Given the description of an element on the screen output the (x, y) to click on. 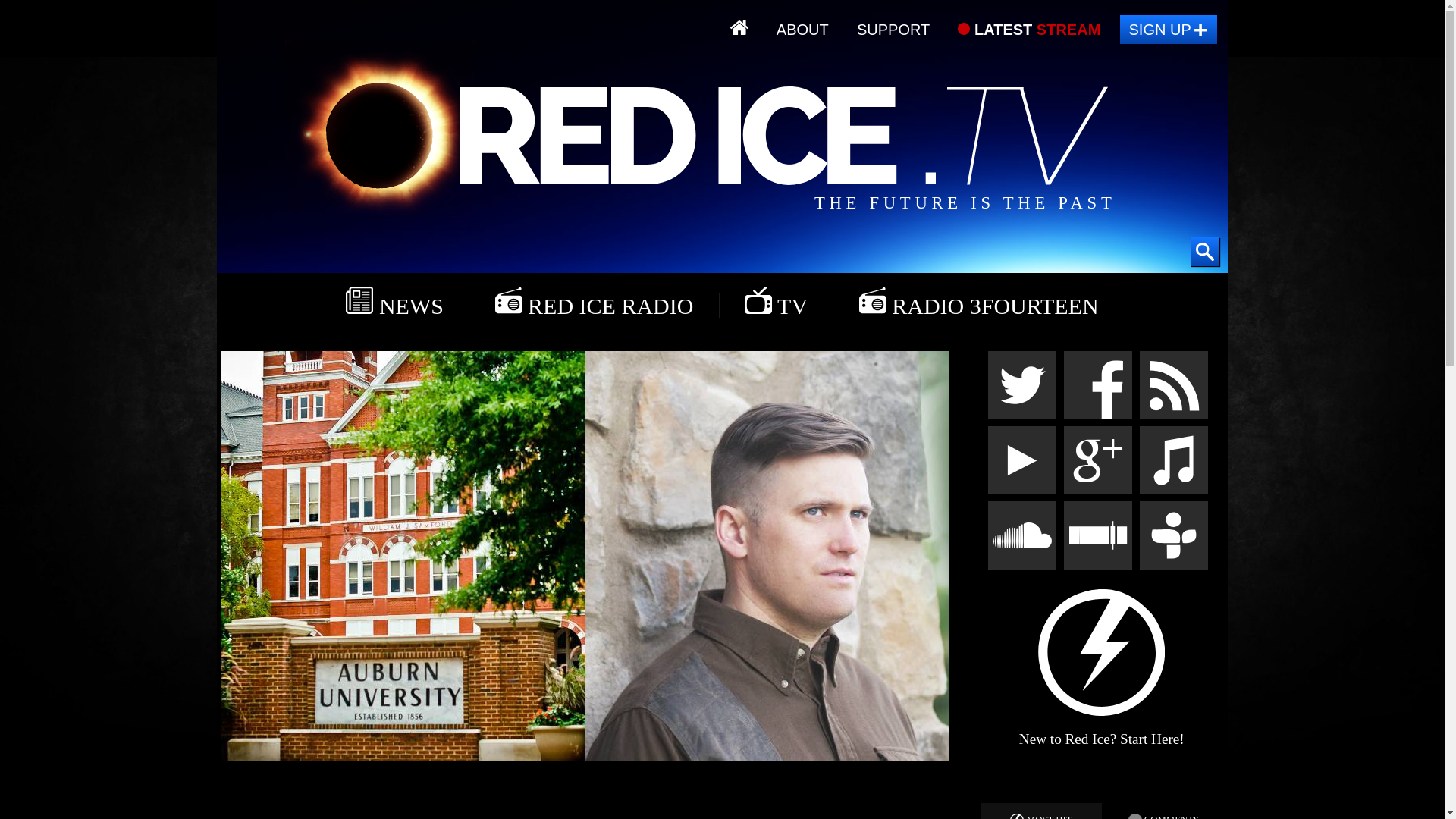
SIGN UP (1167, 29)
TV (775, 302)
New to Red Ice? Start Here! (1101, 652)
ABOUT (802, 29)
RADIO 3FOURTEEN (978, 302)
SUPPORT (893, 29)
LATEST STREAM (1029, 29)
RED ICE RADIO (593, 302)
NEWS (394, 302)
